Given the description of an element on the screen output the (x, y) to click on. 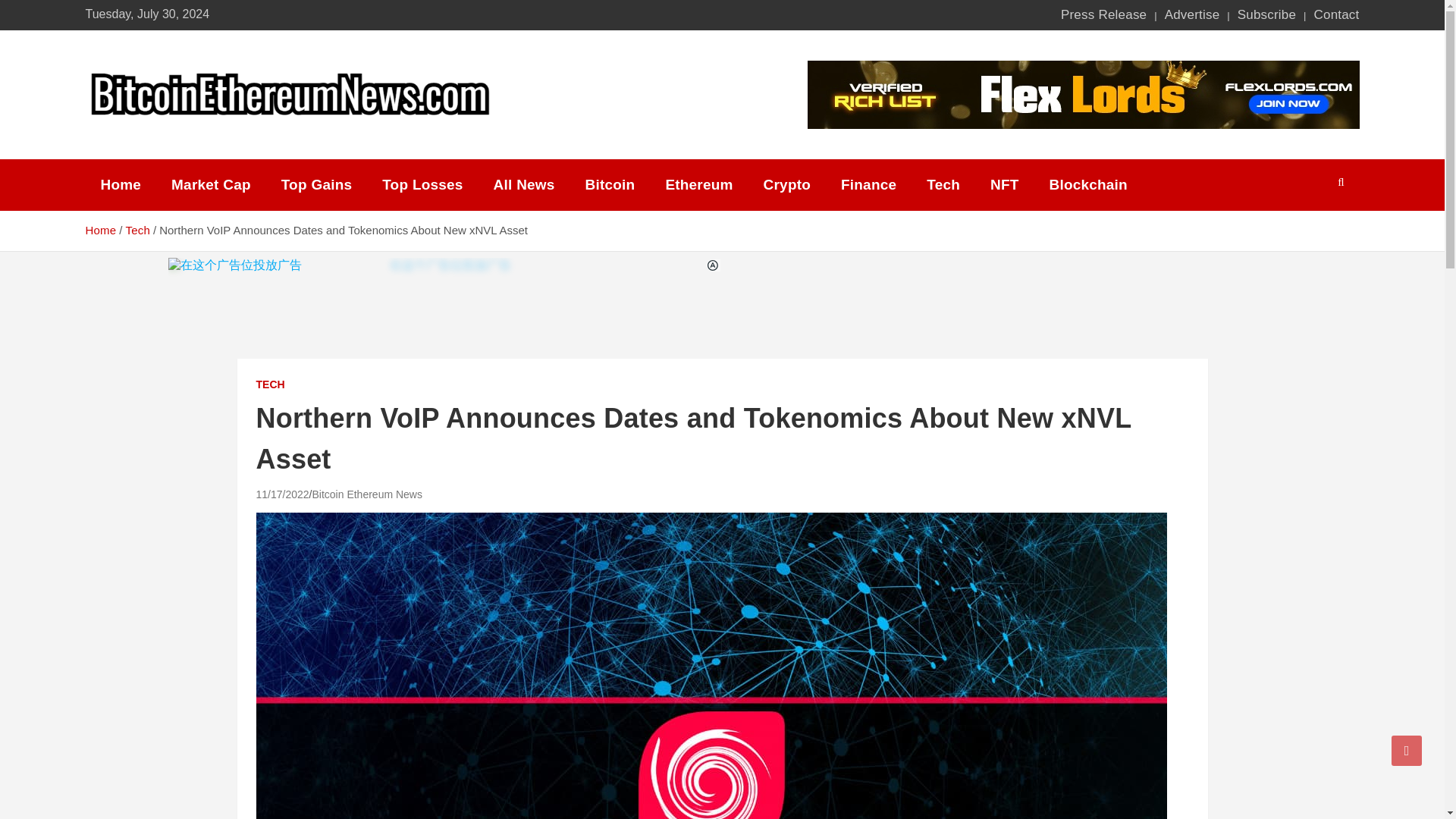
Crypto News Articles (786, 184)
Top Losses (421, 184)
Advertise (1192, 14)
Homepage (119, 184)
NFT (1004, 184)
Tech (137, 229)
All News Articles (524, 184)
All News (524, 184)
Home (119, 184)
Tech News Articles (943, 184)
Finance News Articles (868, 184)
Home (100, 229)
Contact (1335, 14)
BitcoinEthereumNews.com (280, 139)
